Given the description of an element on the screen output the (x, y) to click on. 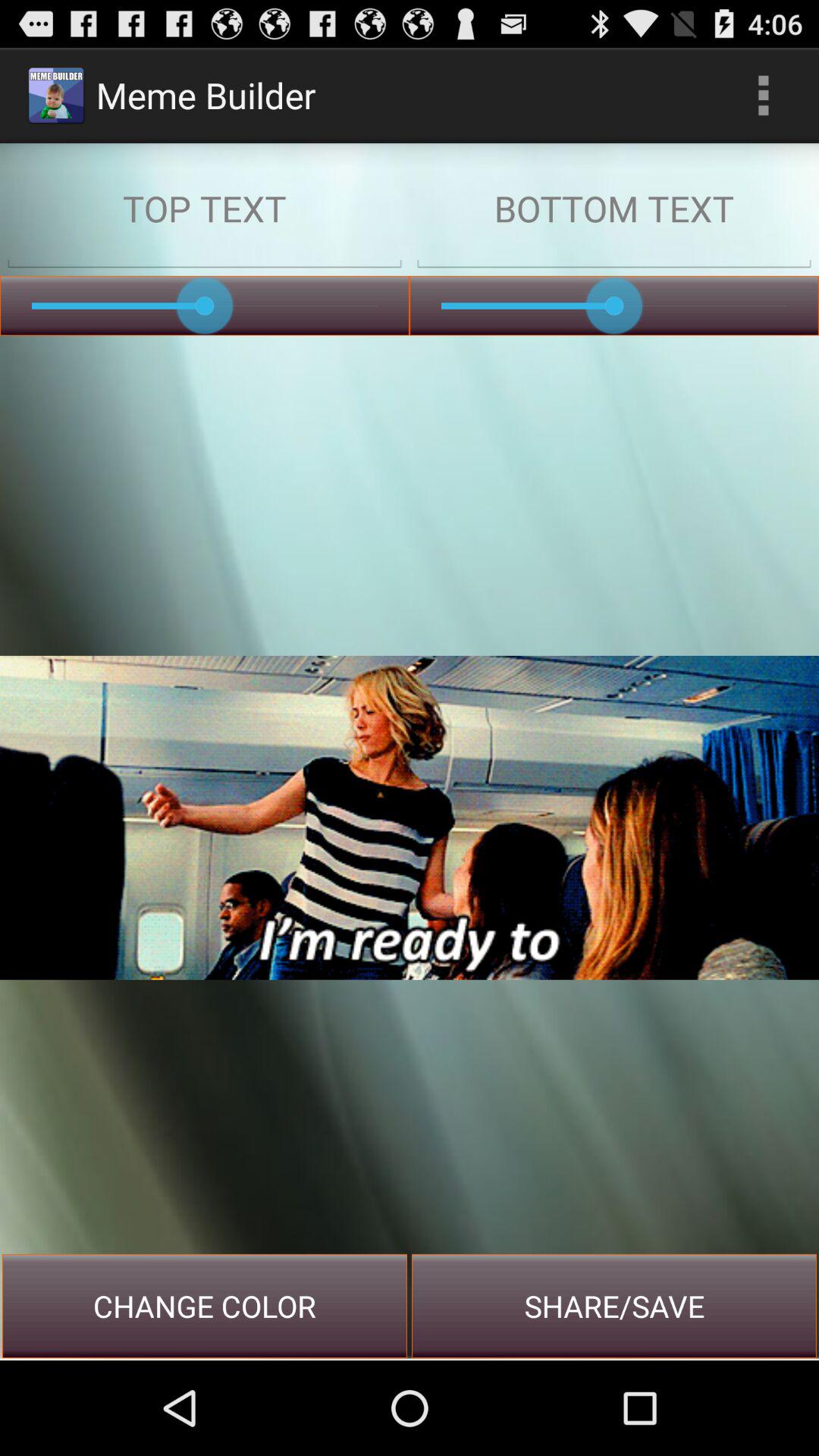
tap the change color button (204, 1306)
